Given the description of an element on the screen output the (x, y) to click on. 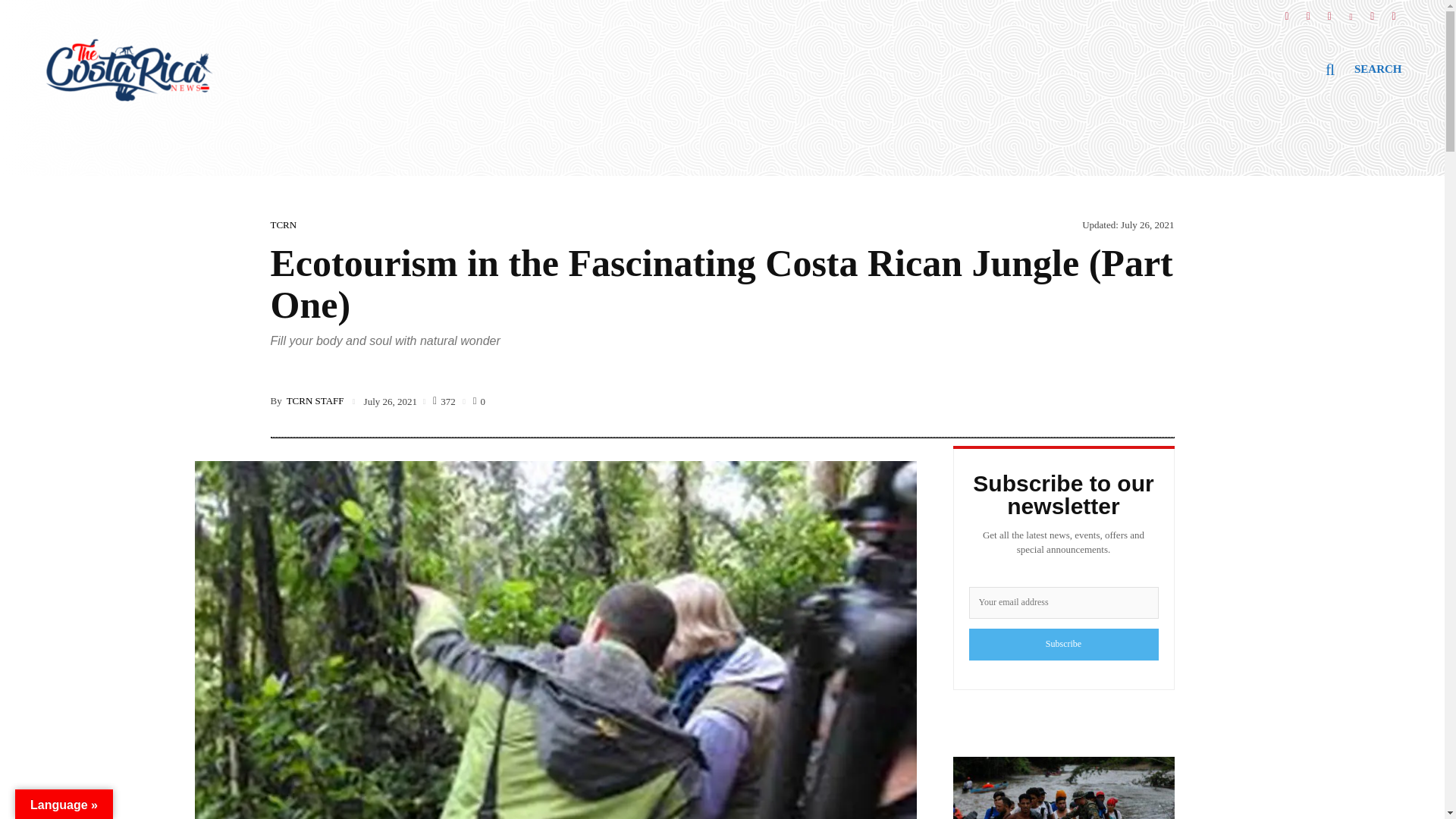
Instagram (1307, 11)
Paypal (1393, 11)
Facebook (1286, 11)
YouTube (1371, 11)
LinkedIn (1350, 11)
Twitter (1329, 11)
